Given the description of an element on the screen output the (x, y) to click on. 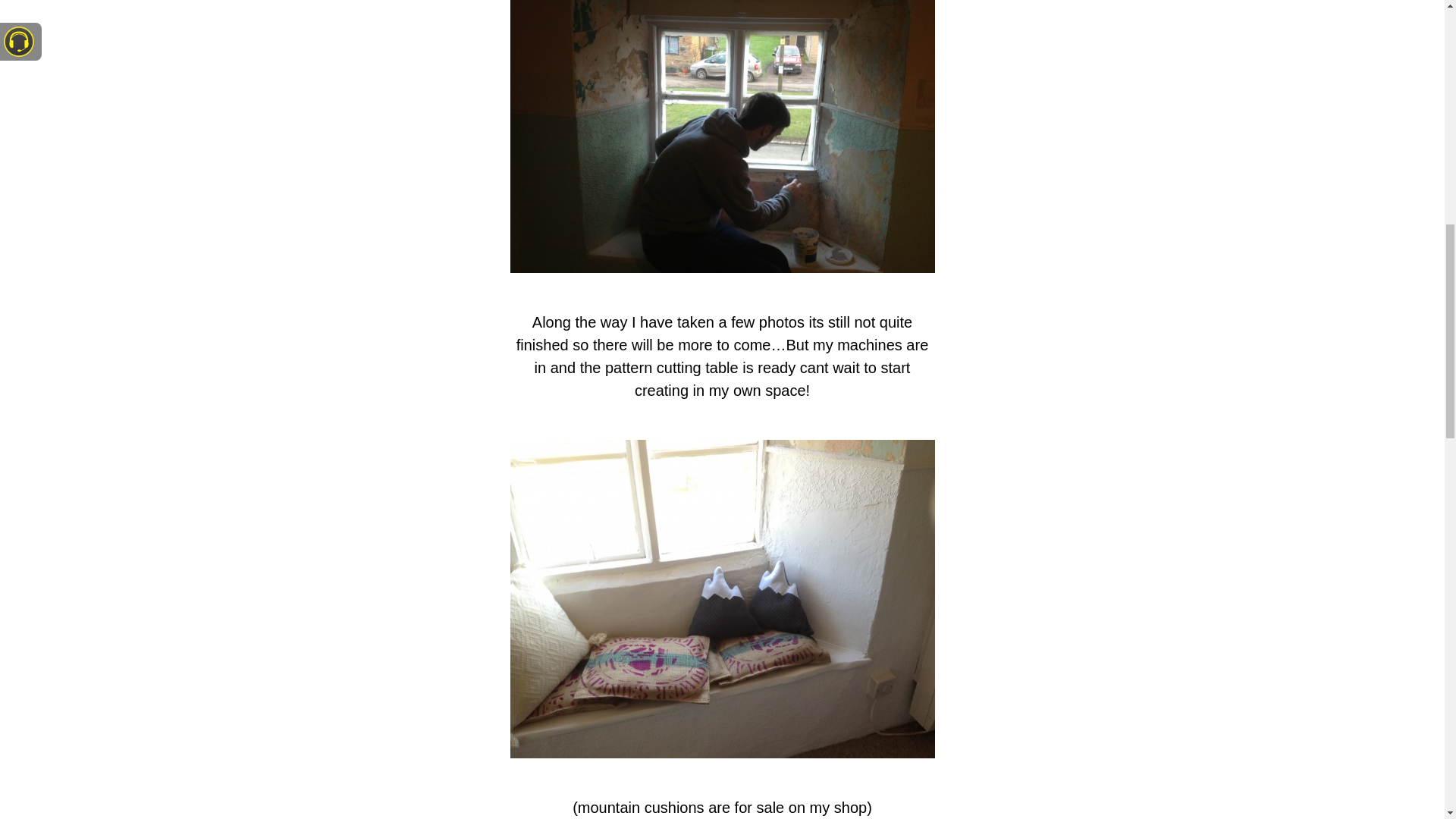
studio (721, 136)
